Given the description of an element on the screen output the (x, y) to click on. 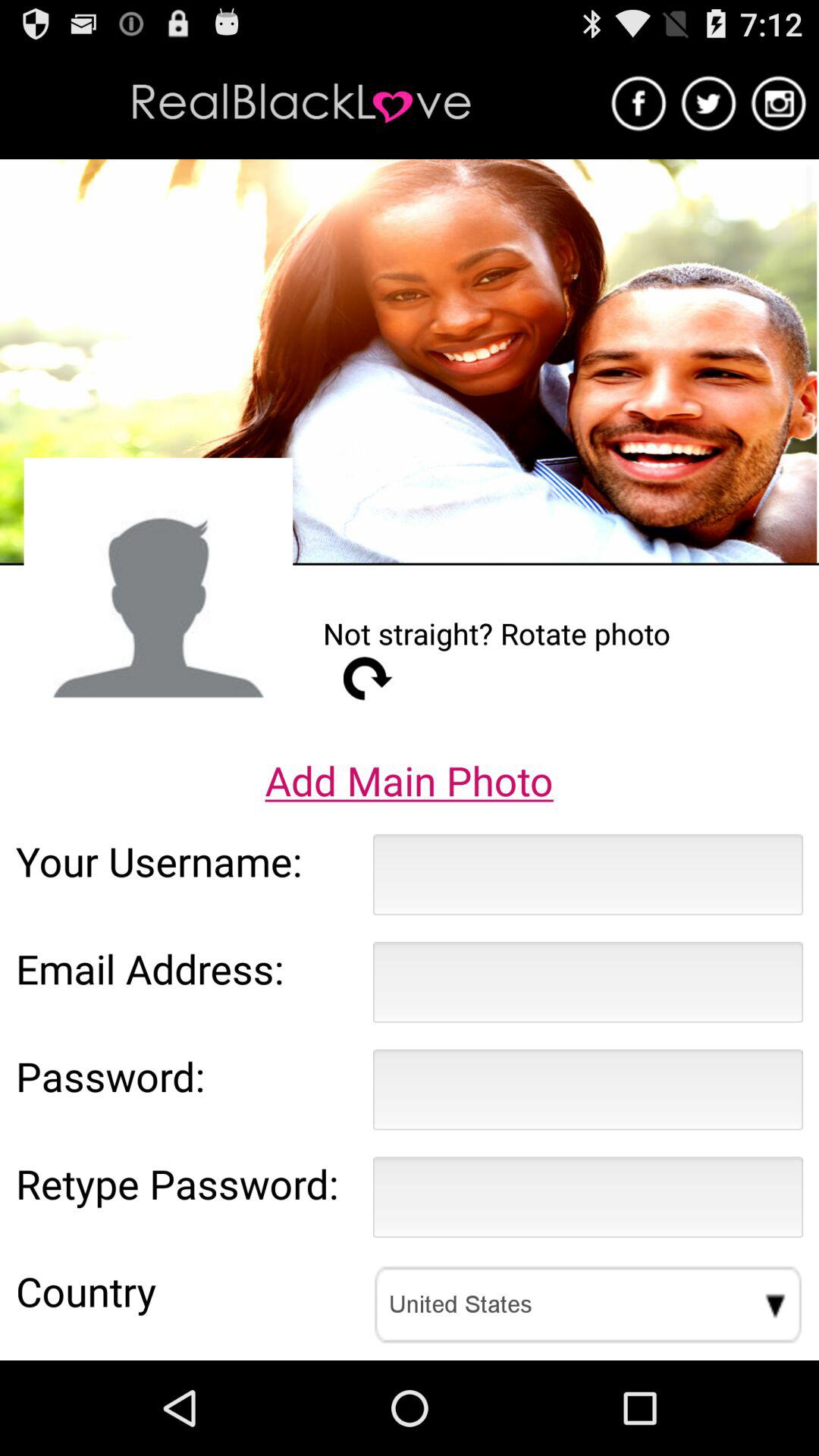
open the app above your username: app (409, 780)
